Given the description of an element on the screen output the (x, y) to click on. 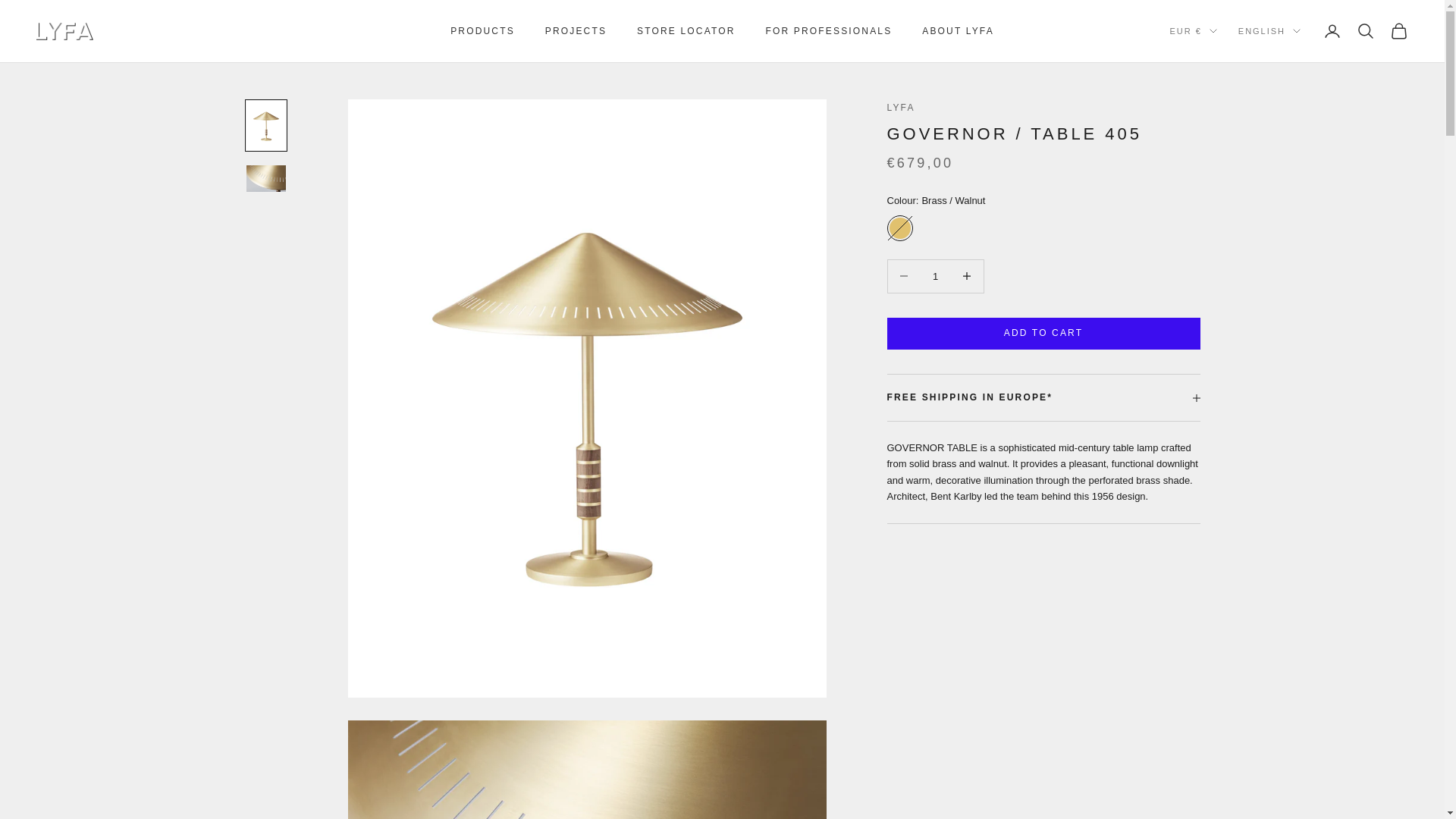
FOR PROFESSIONALS (828, 30)
1 (935, 276)
PROJECTS (575, 30)
LYFA (64, 31)
STORE LOCATOR (686, 30)
